Given the description of an element on the screen output the (x, y) to click on. 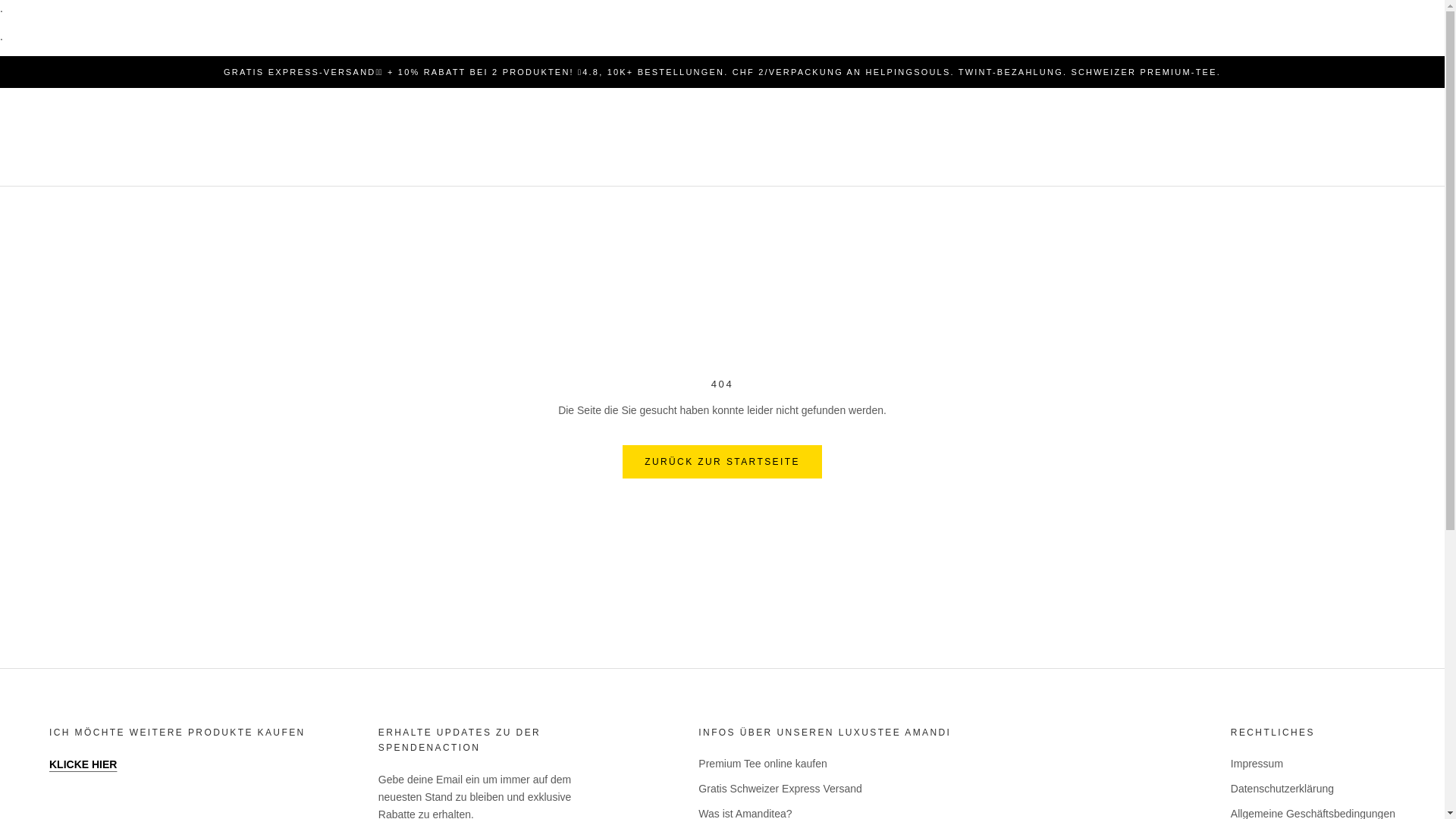
Premium Tee online kaufen Element type: text (932, 763)
Impressum Element type: text (1312, 763)
Gratis Schweizer Express Versand Element type: text (932, 789)
KLICKE HIER Element type: text (82, 764)
